Given the description of an element on the screen output the (x, y) to click on. 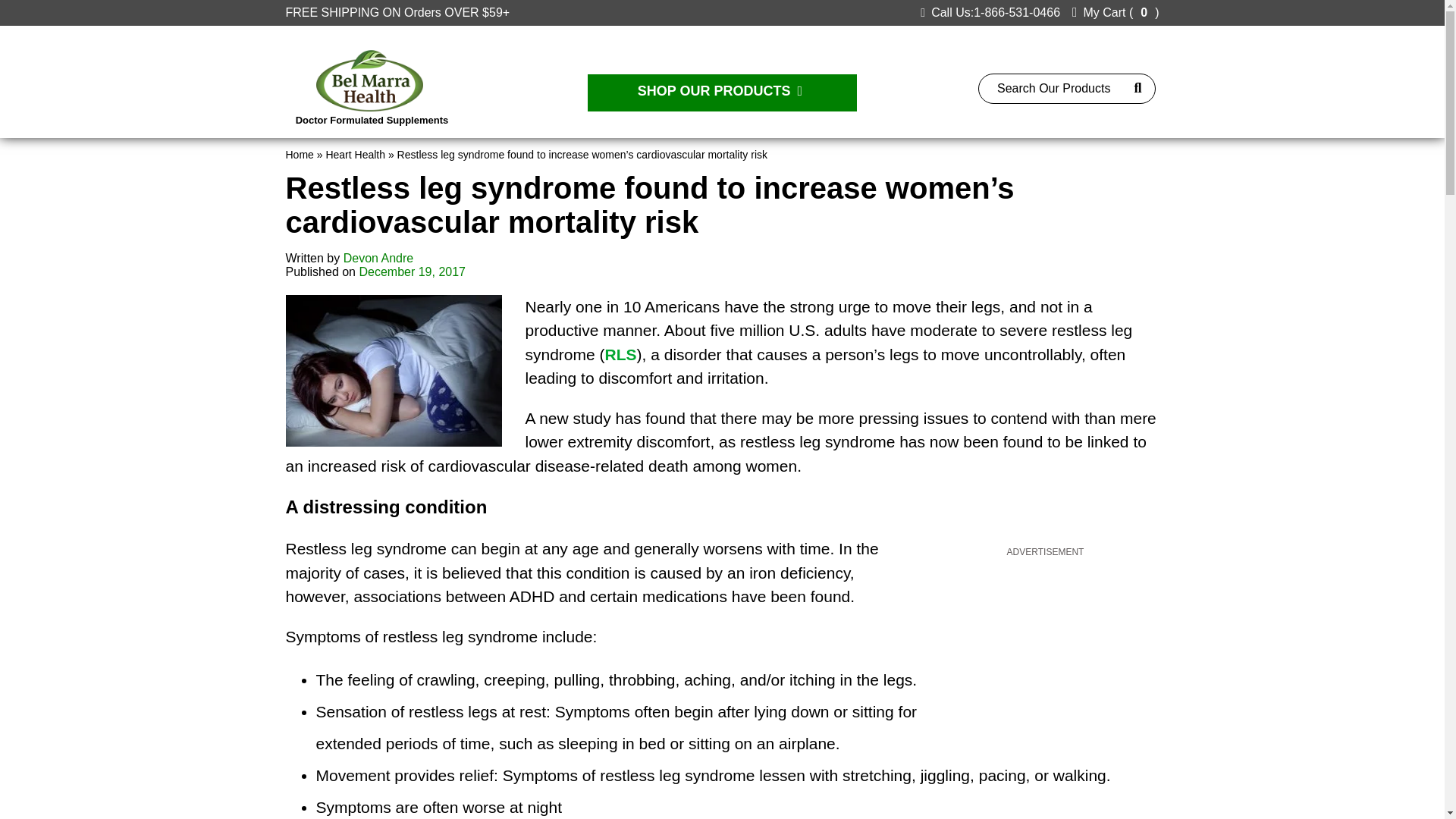
Skip to the content (50, 6)
SHOP OUR PRODUCTS (721, 92)
Posts by Devon Andre (378, 257)
Call Us:1-866-531-0466 (989, 11)
